Given the description of an element on the screen output the (x, y) to click on. 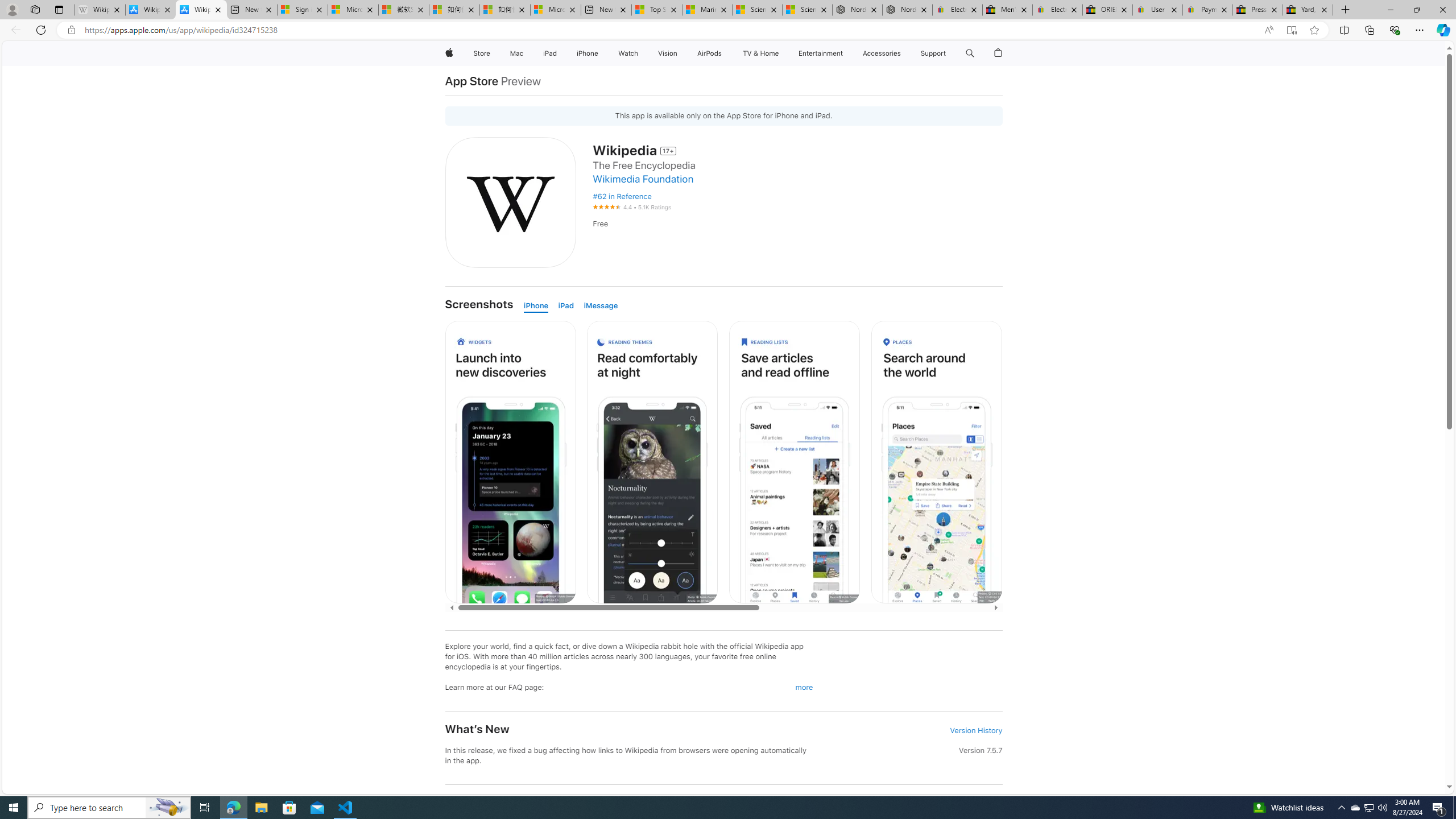
AirPods (709, 53)
Yard, Garden & Outdoor Living (1308, 9)
TV and Home (759, 53)
Version History (976, 730)
iPad (565, 305)
iPad menu (557, 53)
Accessories (881, 53)
